Given the description of an element on the screen output the (x, y) to click on. 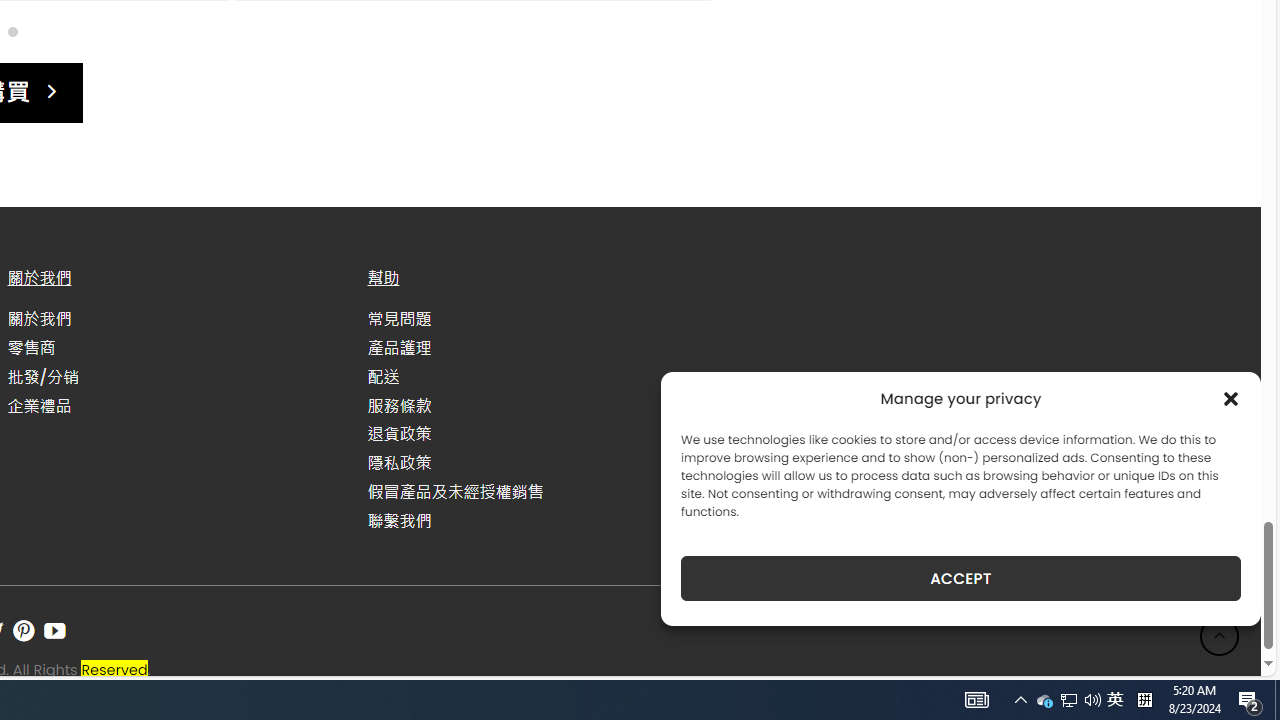
Class: cmplz-close (1231, 398)
Page dot 3 (11, 30)
